Given the description of an element on the screen output the (x, y) to click on. 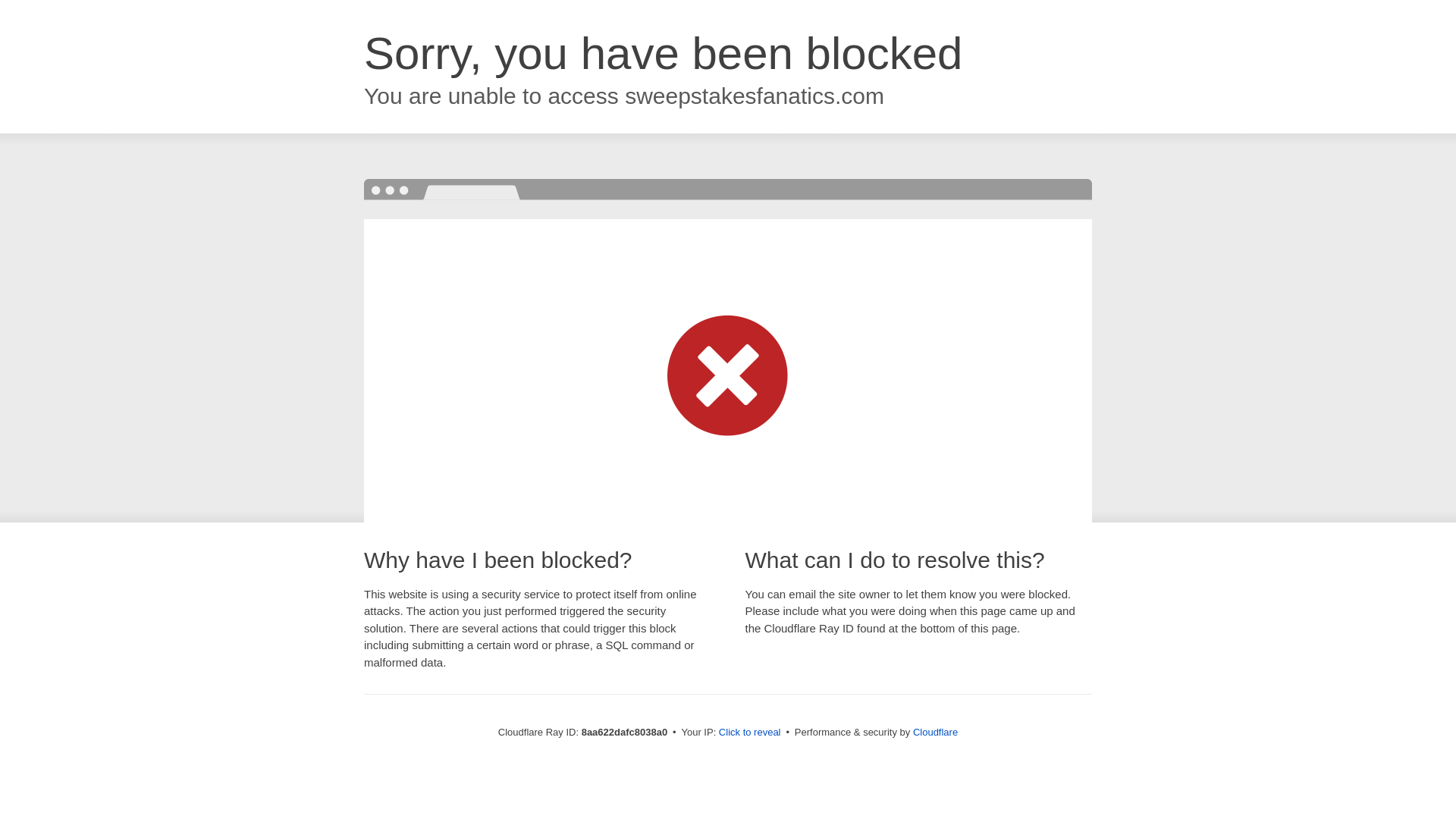
Click to reveal (749, 732)
Cloudflare (935, 731)
